Given the description of an element on the screen output the (x, y) to click on. 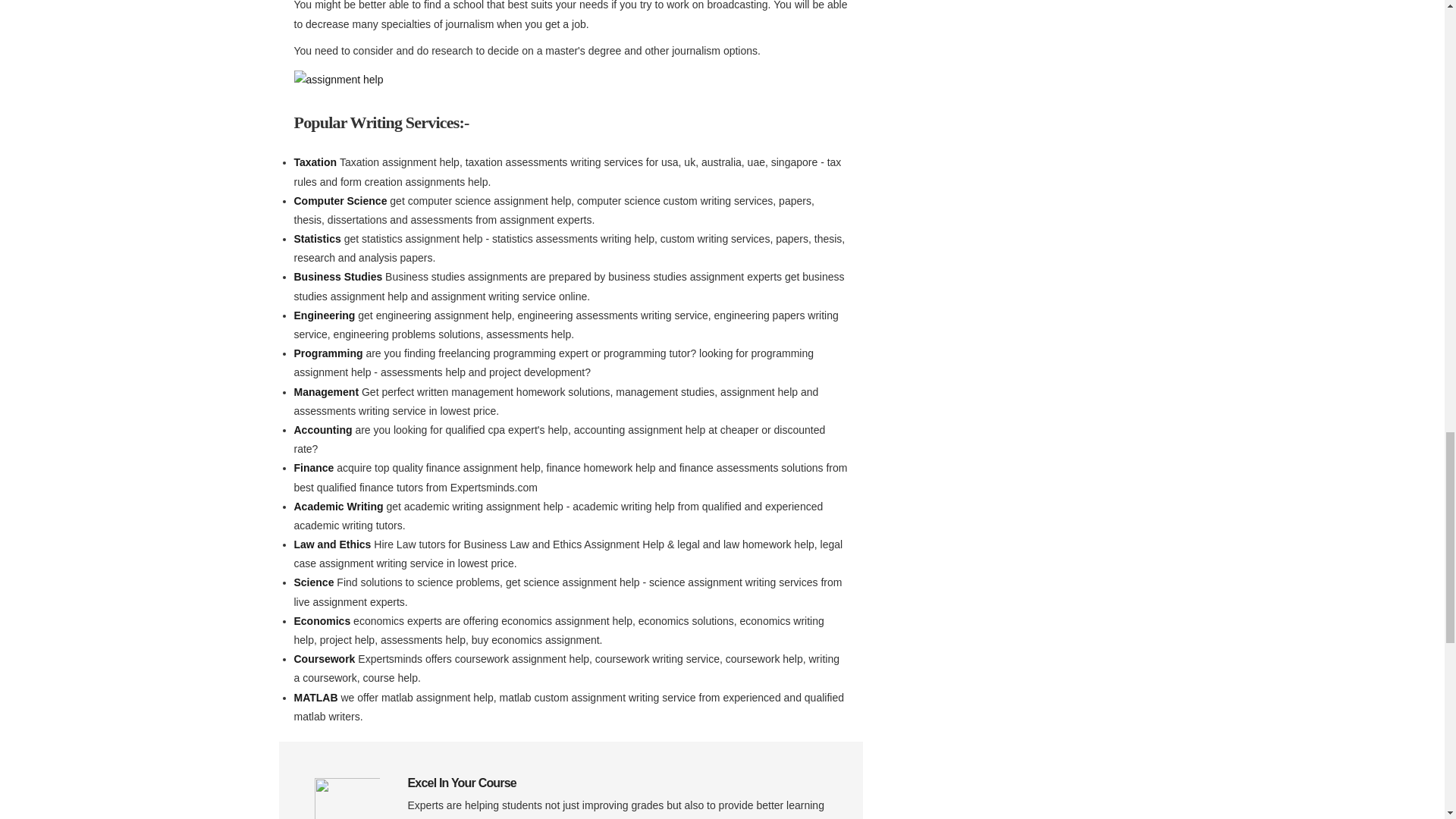
Statistics (318, 238)
Accounting (324, 429)
Programming (330, 353)
Academic Writing (340, 506)
Finance (315, 467)
Computer Science (342, 200)
Law and Ethics (334, 544)
Coursework (326, 658)
Computer Science (342, 200)
MATLAB (317, 697)
